Given the description of an element on the screen output the (x, y) to click on. 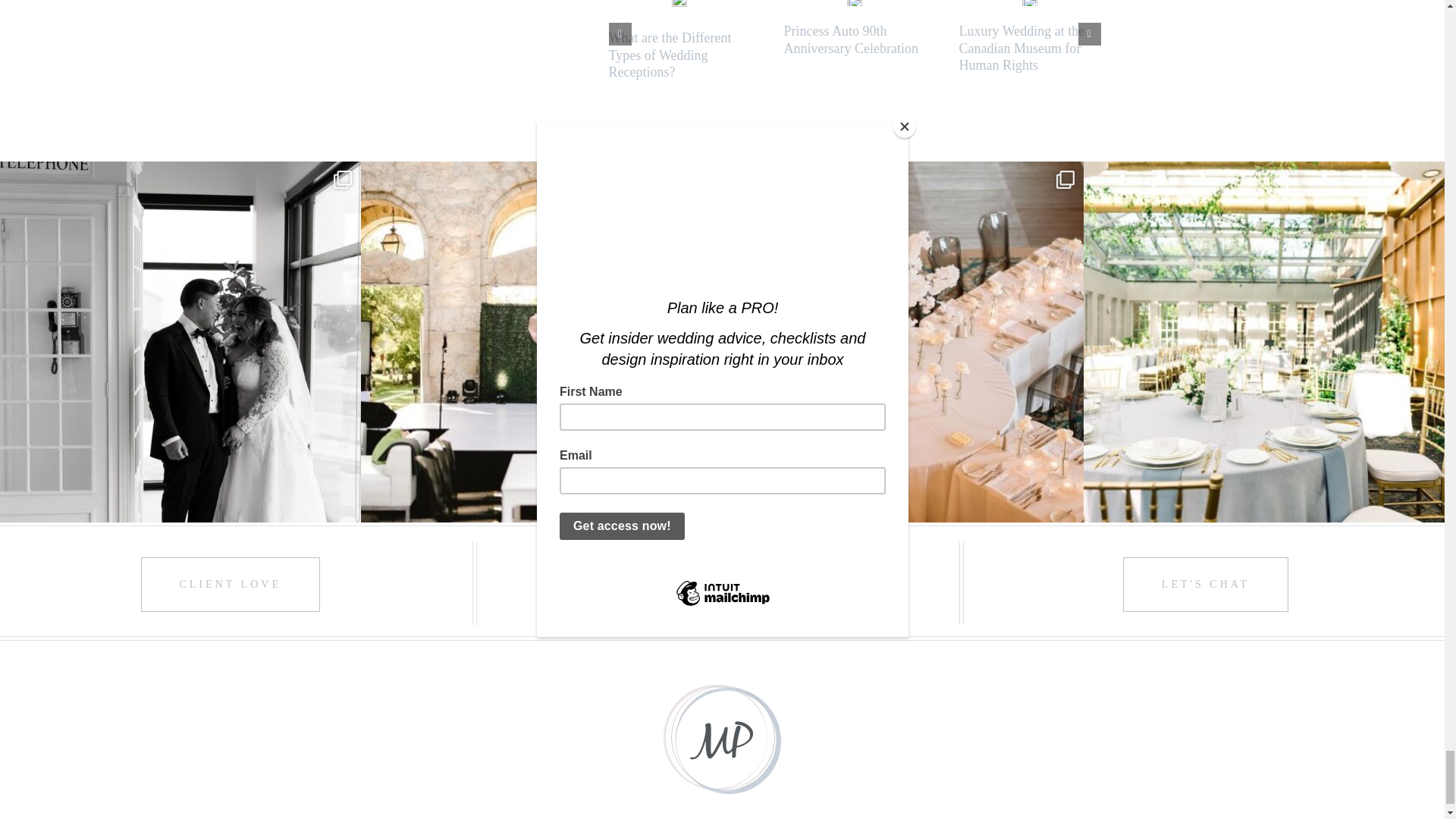
Luxury Wedding at the Canadian Museum for Human Rights (1021, 47)
What are the Different Types of Wedding Receptions? (669, 54)
Princess Auto 90th Anniversary Celebration (851, 39)
